Given the description of an element on the screen output the (x, y) to click on. 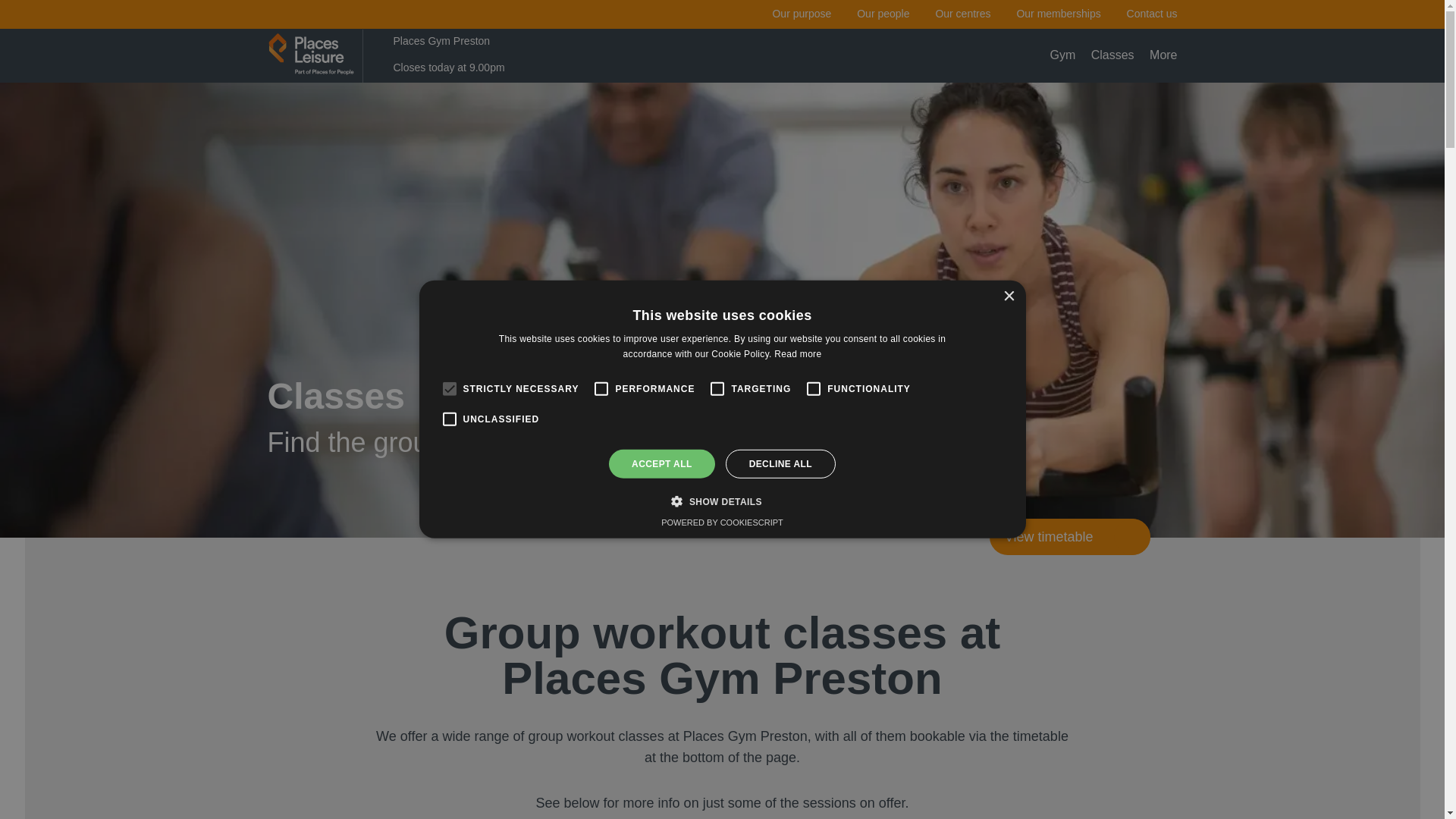
View timetable (1070, 536)
View timetable (721, 537)
Places Gym Preston (476, 40)
Contact us (1151, 13)
Our purpose (801, 13)
Gym (1062, 54)
Our centres (962, 13)
More (1163, 54)
Classes (1112, 54)
Consent Management Platform (722, 522)
Our memberships (1058, 13)
View timetable (1070, 536)
Our people (882, 13)
